Given the description of an element on the screen output the (x, y) to click on. 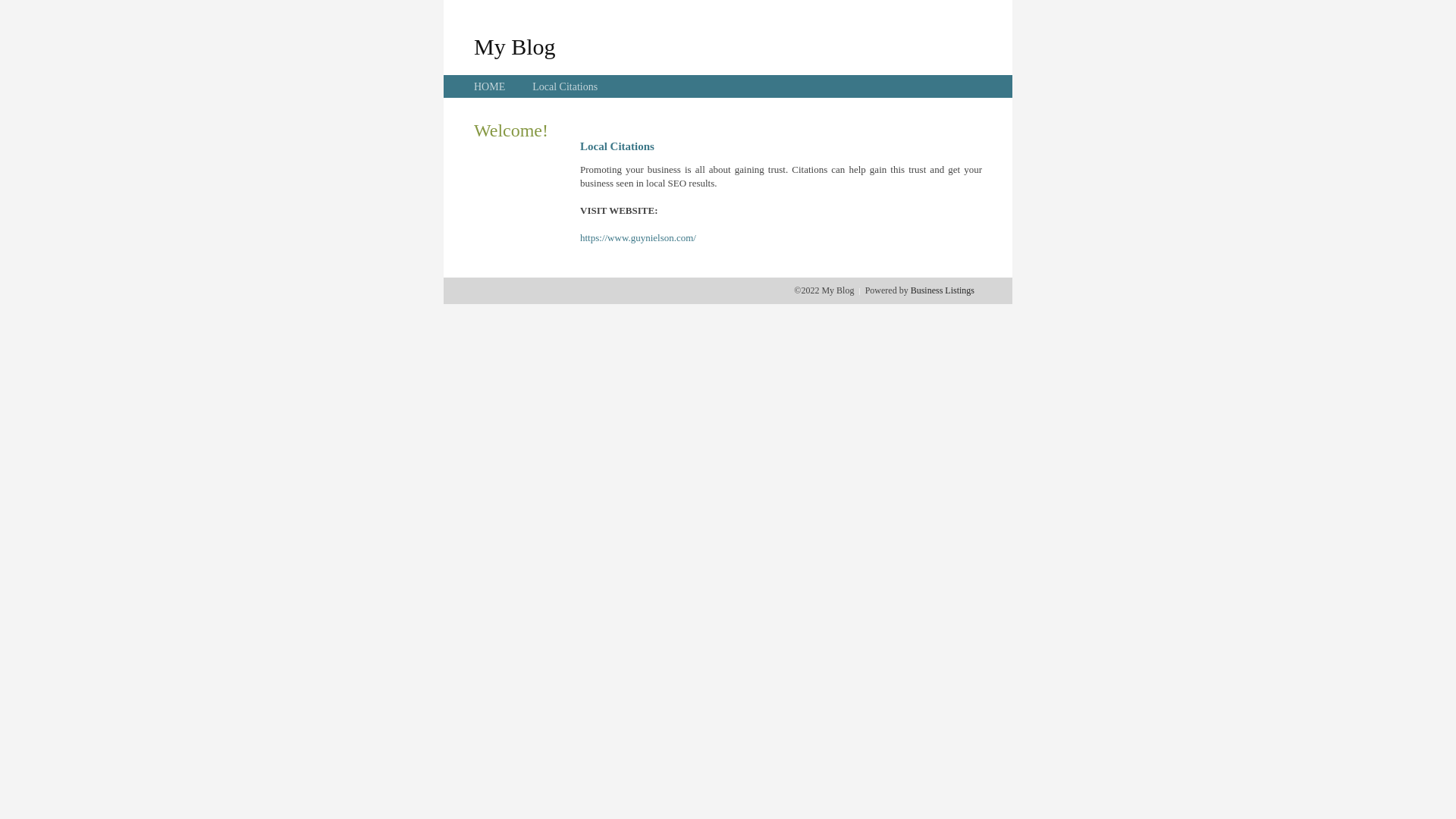
https://www.guynielson.com/ Element type: text (638, 237)
HOME Element type: text (489, 86)
Business Listings Element type: text (942, 290)
My Blog Element type: text (514, 46)
Local Citations Element type: text (564, 86)
